Given the description of an element on the screen output the (x, y) to click on. 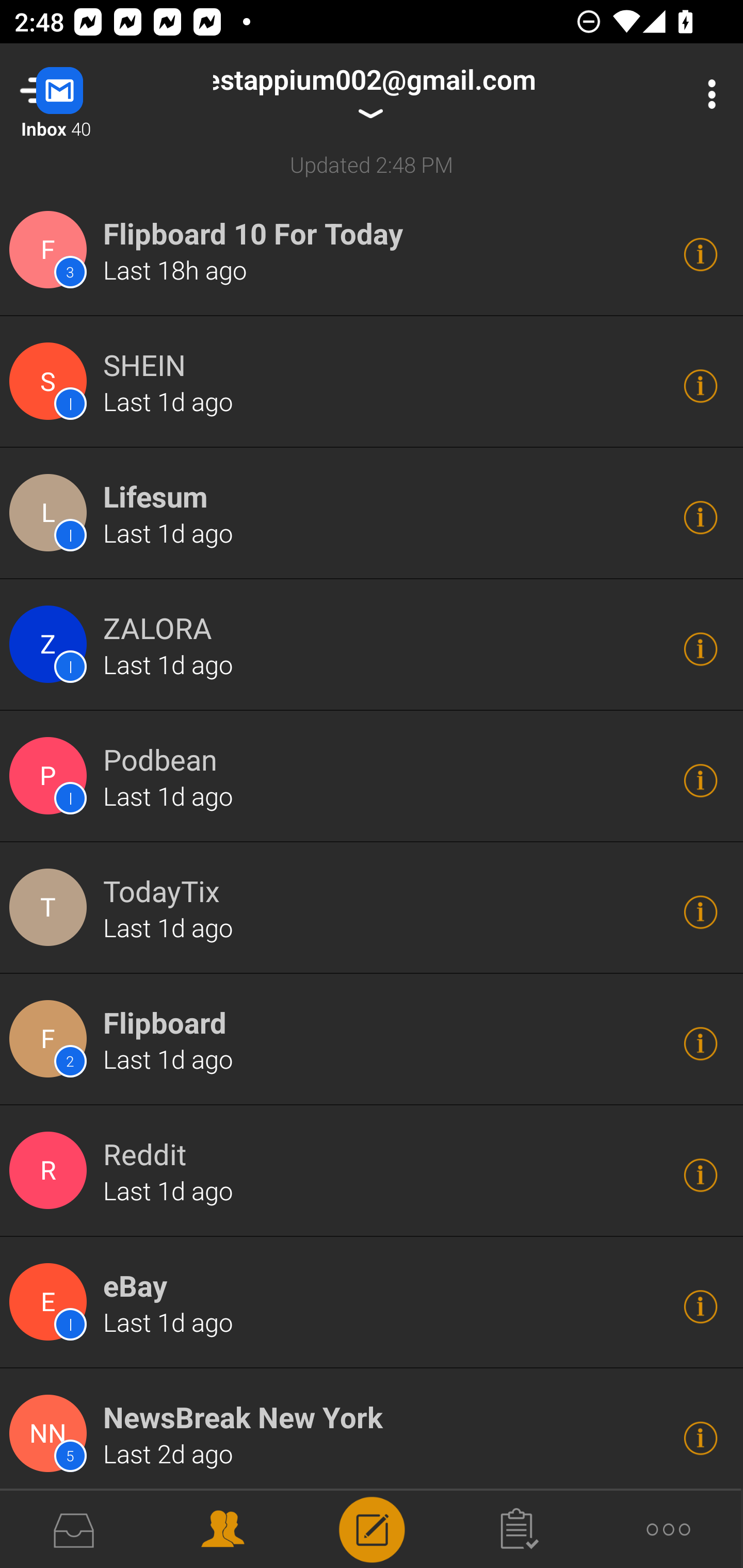
Navigate up (81, 93)
testappium002@gmail.com (378, 93)
More Options (706, 93)
Updated 2:48 PM (371, 164)
3 Flipboard 10 For Today Last 18h ago (371, 250)
3 (50, 250)
SHEIN Last 1d ago (371, 382)
Lifesum Last 1d ago (371, 513)
ZALORA Last 1d ago (371, 644)
Podbean Last 1d ago (371, 776)
TodayTix Last 1d ago (371, 907)
2 Flipboard Last 1d ago (371, 1039)
2 (50, 1038)
Reddit Last 1d ago (371, 1171)
eBay Last 1d ago (371, 1302)
5 NewsBreak New York Last 2d ago (371, 1434)
5 (50, 1433)
Compose (371, 1528)
